Given the description of an element on the screen output the (x, y) to click on. 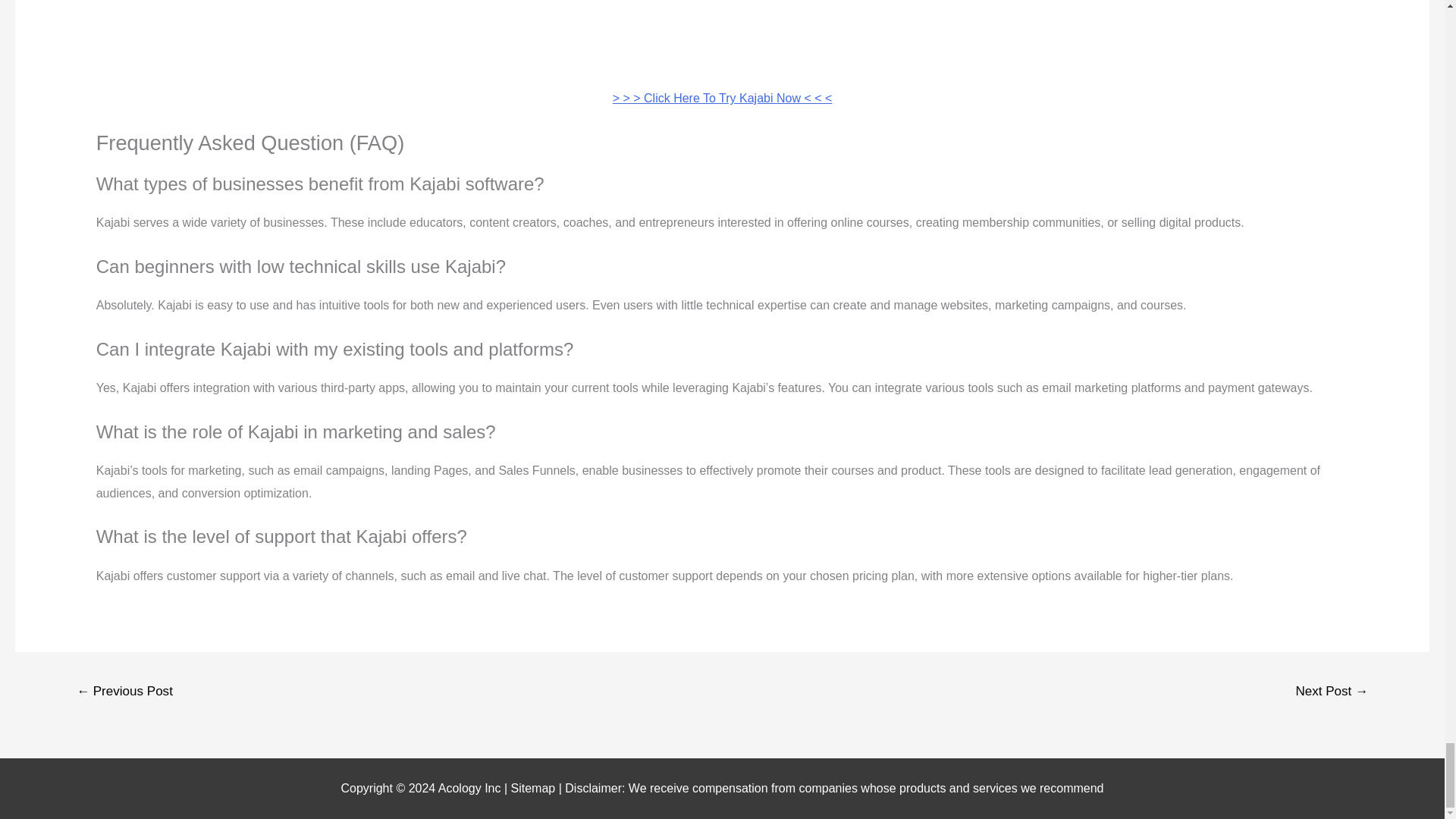
Sitemap (535, 788)
